Given the description of an element on the screen output the (x, y) to click on. 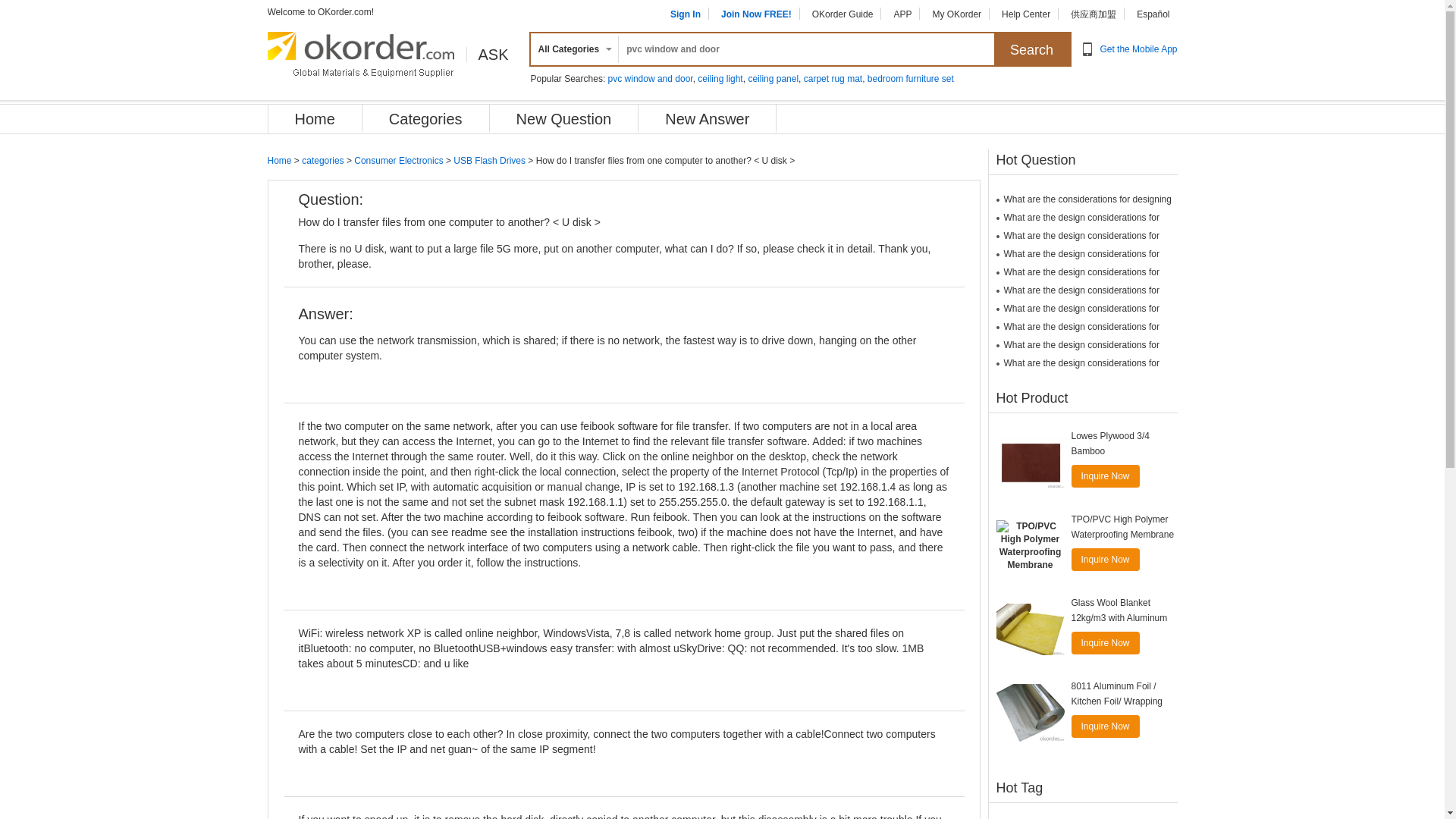
Help Center (1025, 14)
My OKorder (956, 14)
All Categories (571, 49)
Join Now FREE! (756, 14)
Sign In (684, 14)
Get the Mobile App (1137, 49)
OKorder Guide (842, 14)
APP (902, 14)
